Given the description of an element on the screen output the (x, y) to click on. 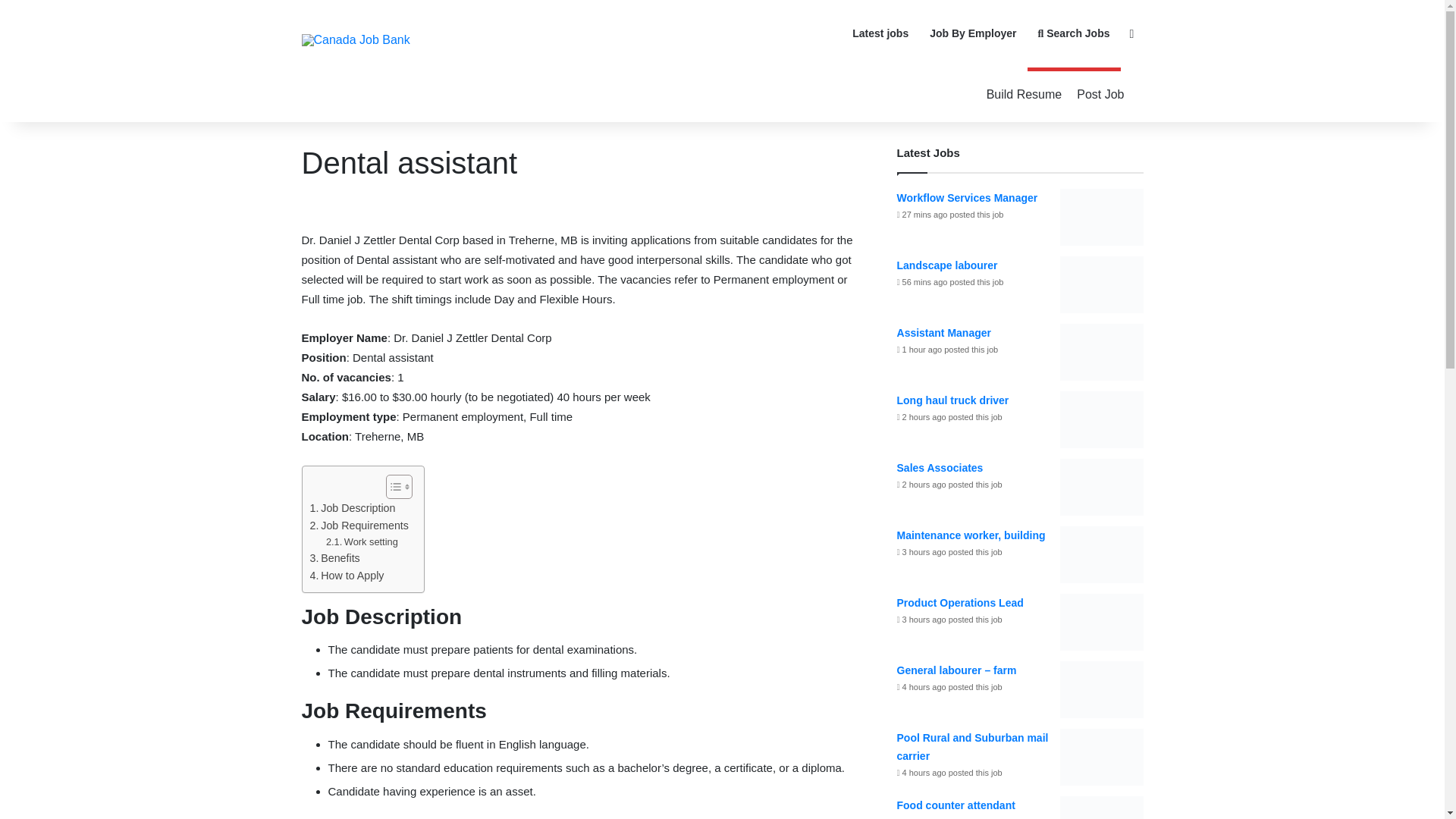
Maintenance worker, building (970, 535)
Post Job (1099, 94)
Job Requirements (357, 525)
Work setting (361, 542)
Benefits (333, 558)
Canada Job Bank (355, 39)
Sales Associates (940, 467)
Search Jobs (1074, 33)
Landscape labourer (946, 265)
How to Apply (346, 575)
